Given the description of an element on the screen output the (x, y) to click on. 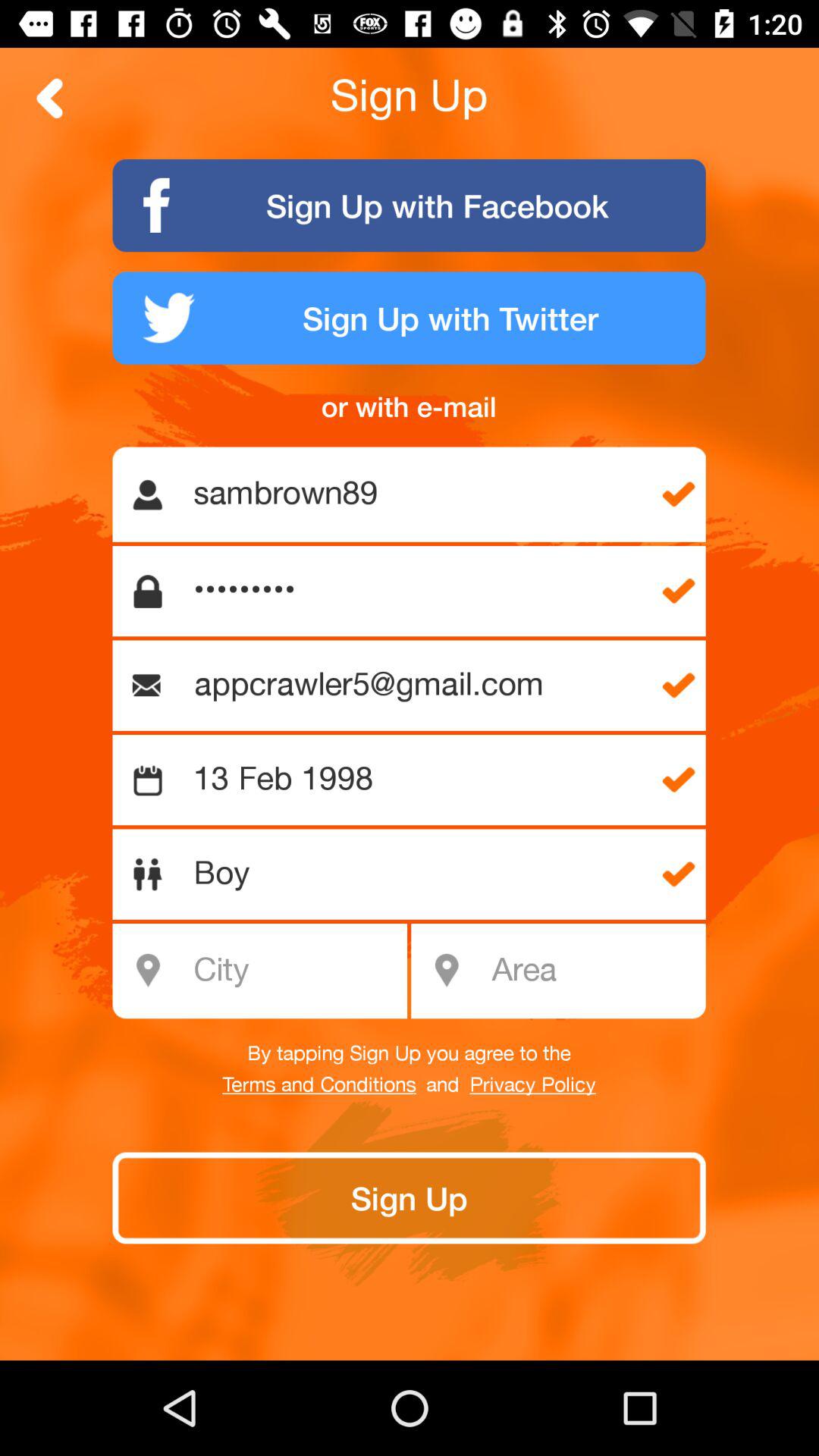
swipe to the crowd3116 icon (417, 591)
